Given the description of an element on the screen output the (x, y) to click on. 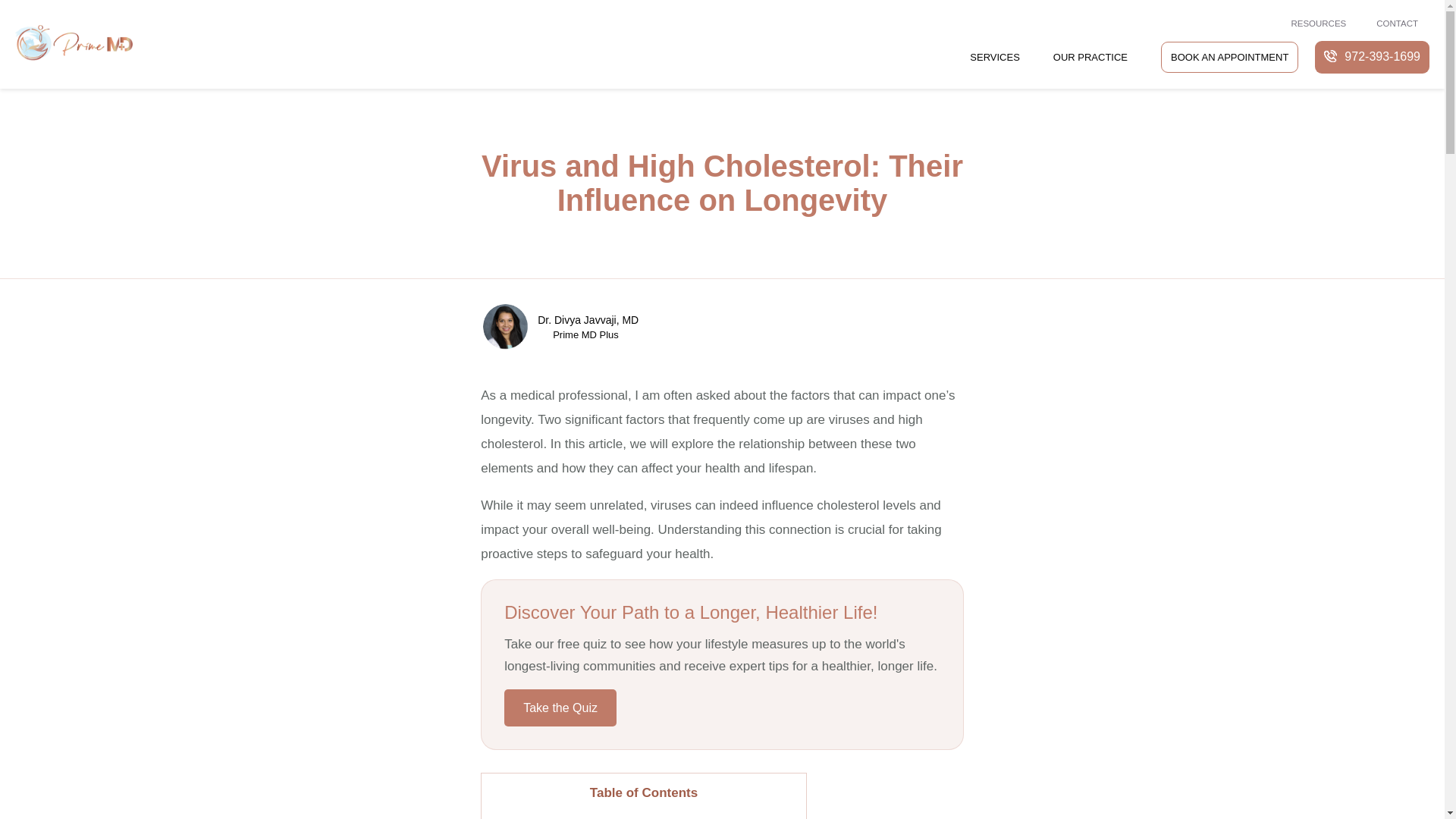
972-393-1699 (1371, 56)
Take the Quiz (559, 707)
CONTACT (1393, 24)
OUR PRACTICE (1089, 56)
RESOURCES (1313, 24)
BOOK AN APPOINTMENT (1229, 56)
SERVICES (994, 56)
